Given the description of an element on the screen output the (x, y) to click on. 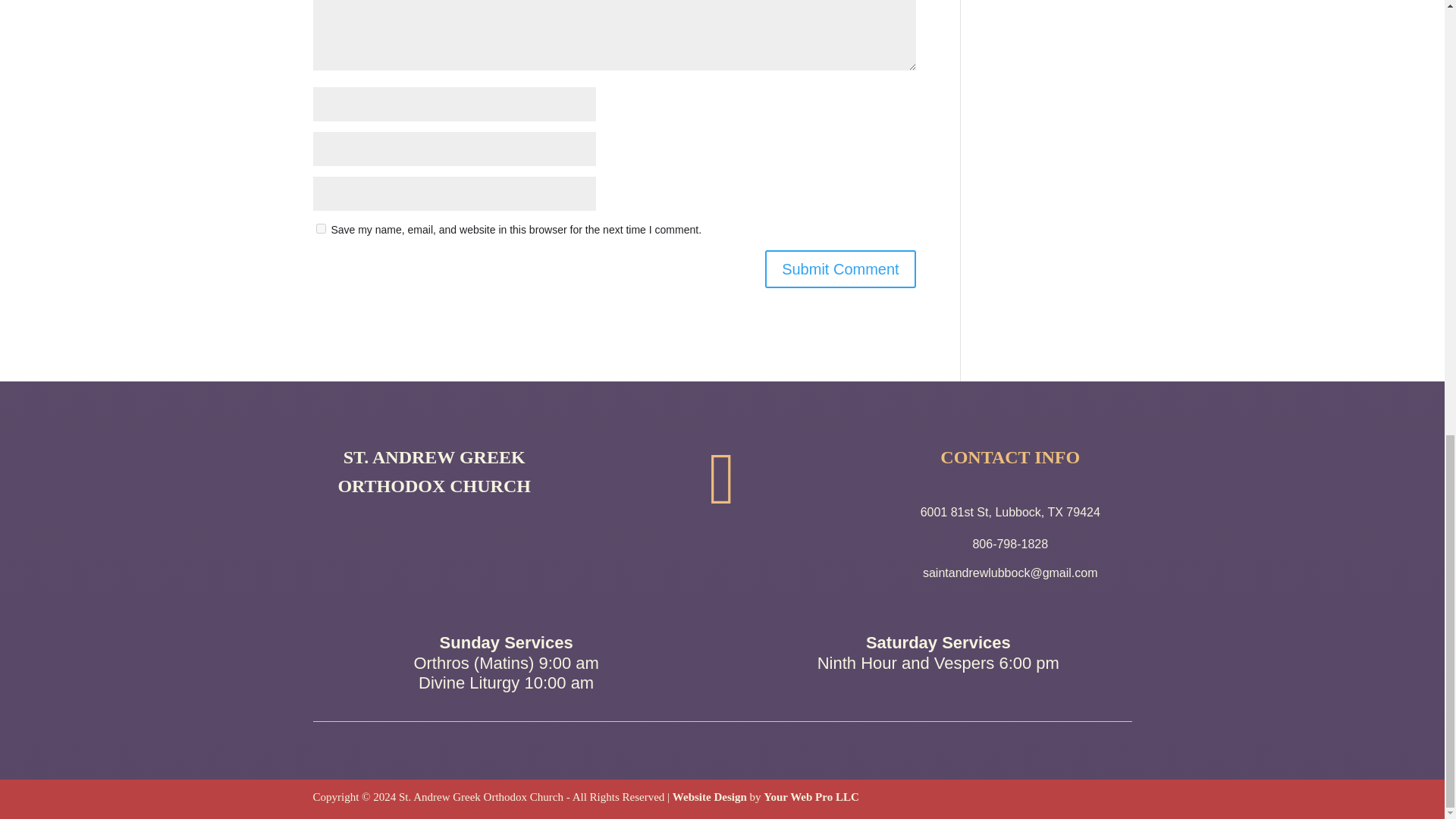
Website Design (709, 797)
Your Web Pro LLC (810, 797)
yes (319, 228)
806-798-1828 (1010, 543)
Submit Comment (840, 269)
Submit Comment (840, 269)
